Given the description of an element on the screen output the (x, y) to click on. 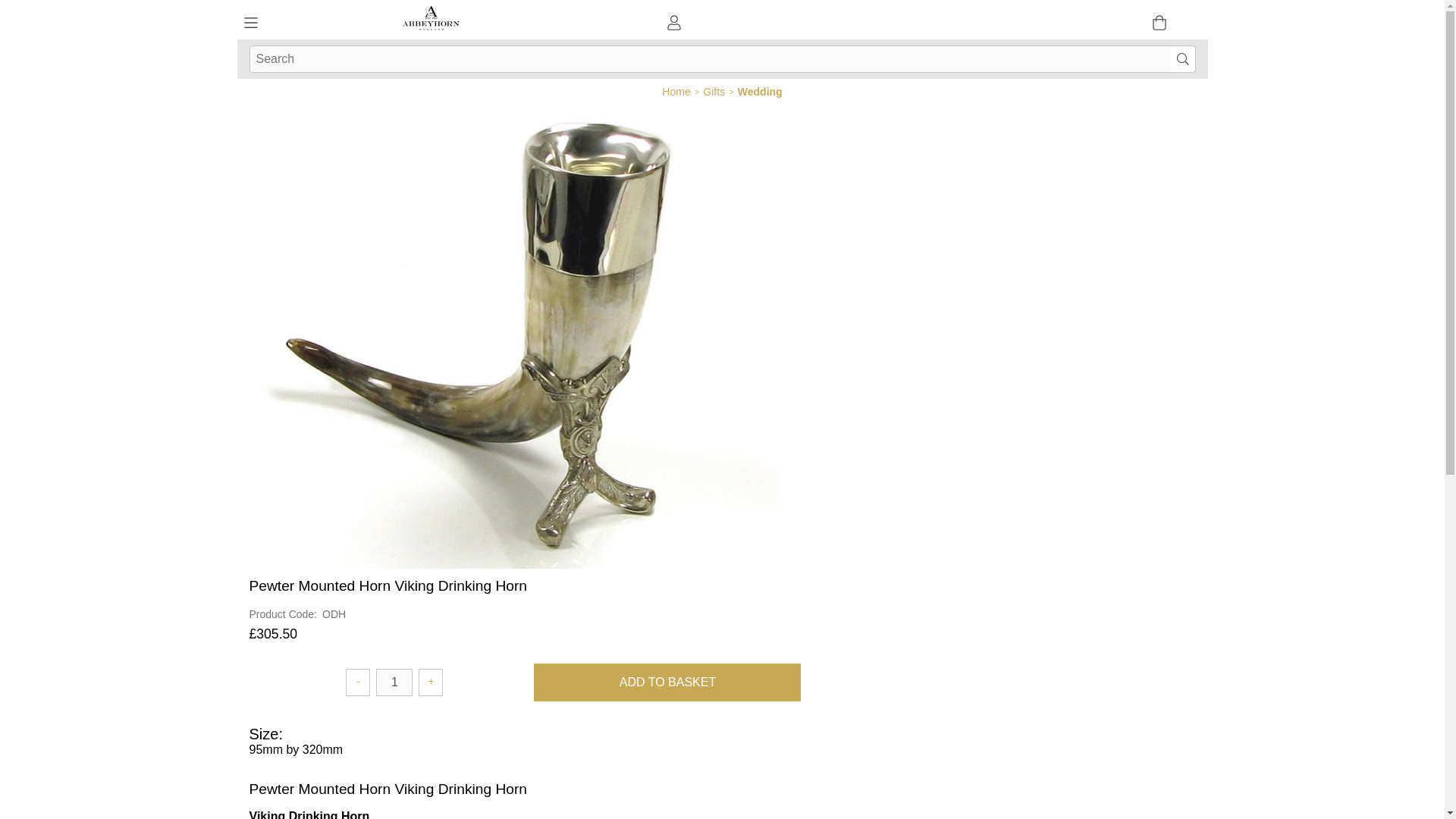
Click to view departments (250, 22)
1 (393, 682)
Click to view departments (250, 24)
Search (1182, 59)
Add to Basket (667, 682)
Search (1182, 59)
